Given the description of an element on the screen output the (x, y) to click on. 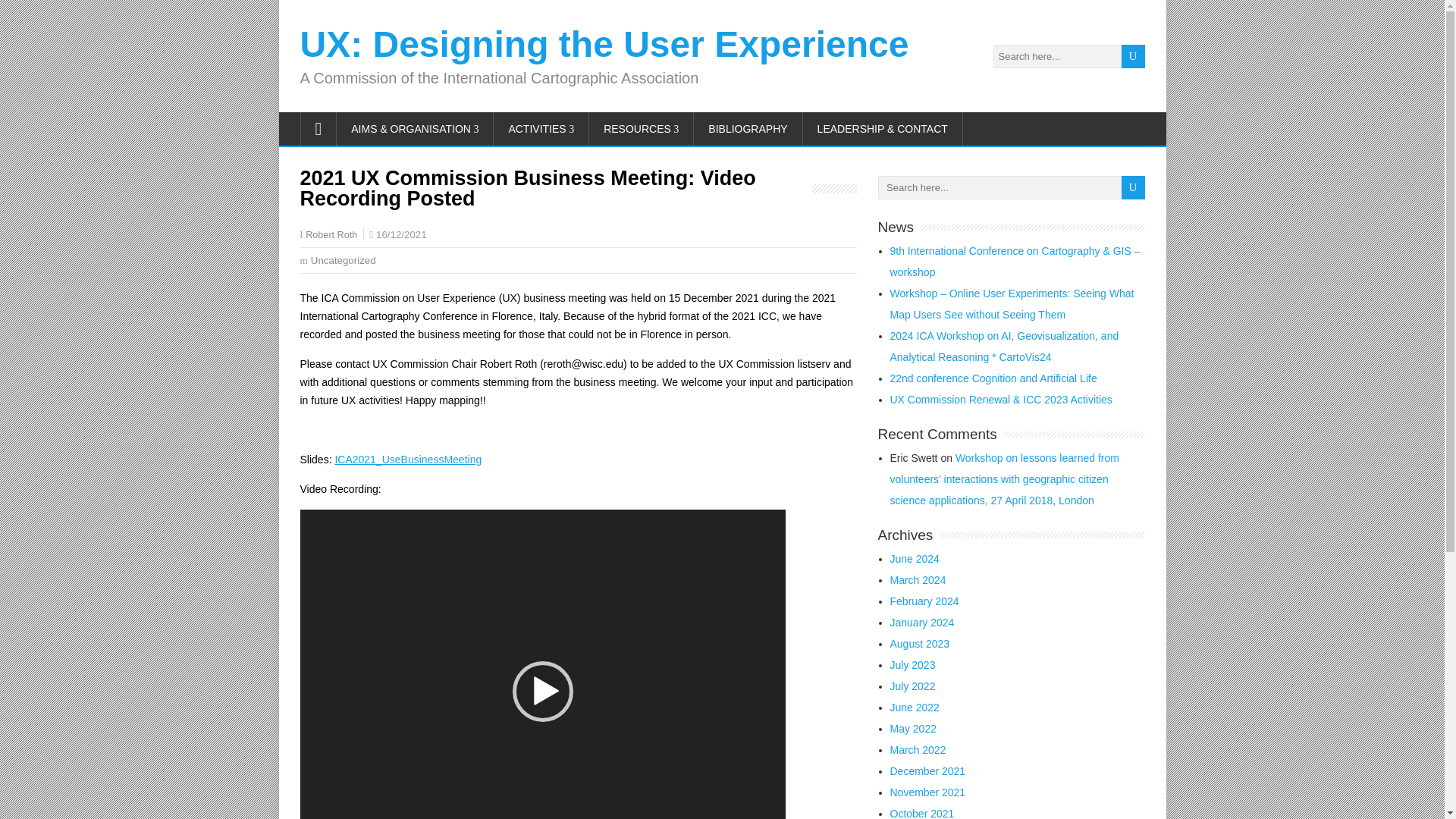
U (1132, 187)
U (1132, 56)
Robert Roth (330, 235)
U (1132, 56)
ACTIVITIES (541, 128)
BIBLIOGRAPHY (748, 128)
Posts by Robert Roth (330, 235)
UX: Designing the User Experience (603, 44)
U (1132, 56)
Uncategorized (343, 260)
